Given the description of an element on the screen output the (x, y) to click on. 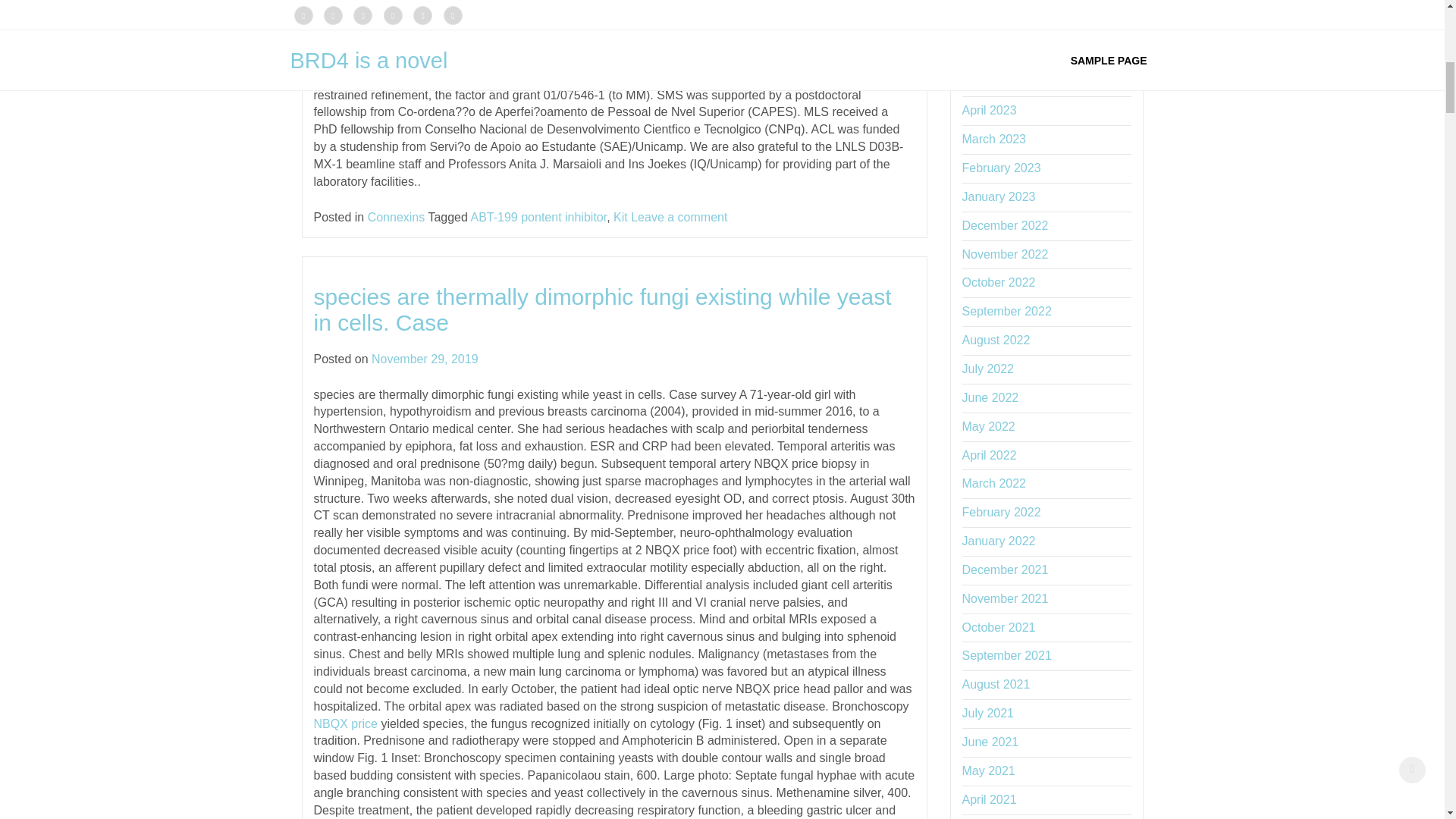
Connexins (396, 216)
November 29, 2019 (425, 358)
Kit (619, 216)
Leave a comment (678, 216)
ABT-199 pontent inhibitor (538, 216)
NBQX price (345, 723)
